Given the description of an element on the screen output the (x, y) to click on. 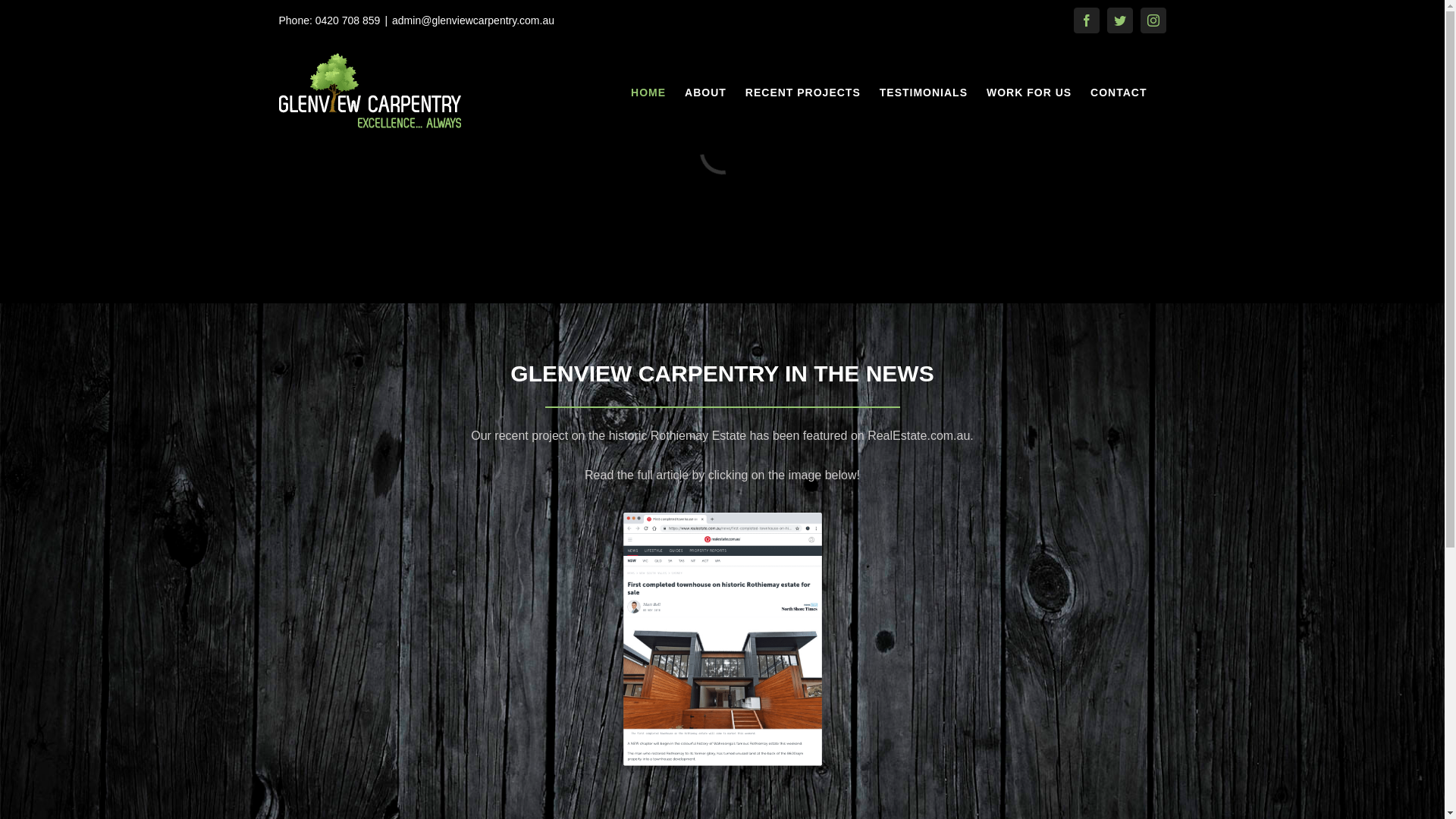
RECENT PROJECTS Element type: text (802, 91)
CONTACT Element type: text (1118, 91)
admin@glenviewcarpentry.com.au Element type: text (473, 20)
HOME Element type: text (647, 91)
WORK FOR US Element type: text (1028, 91)
ABOUT Element type: text (705, 91)
Instagram Element type: text (1153, 20)
TESTIMONIALS Element type: text (923, 91)
0420 708 859 Element type: text (347, 20)
Twitter Element type: text (1119, 20)
Facebook Element type: text (1086, 20)
